Given the description of an element on the screen output the (x, y) to click on. 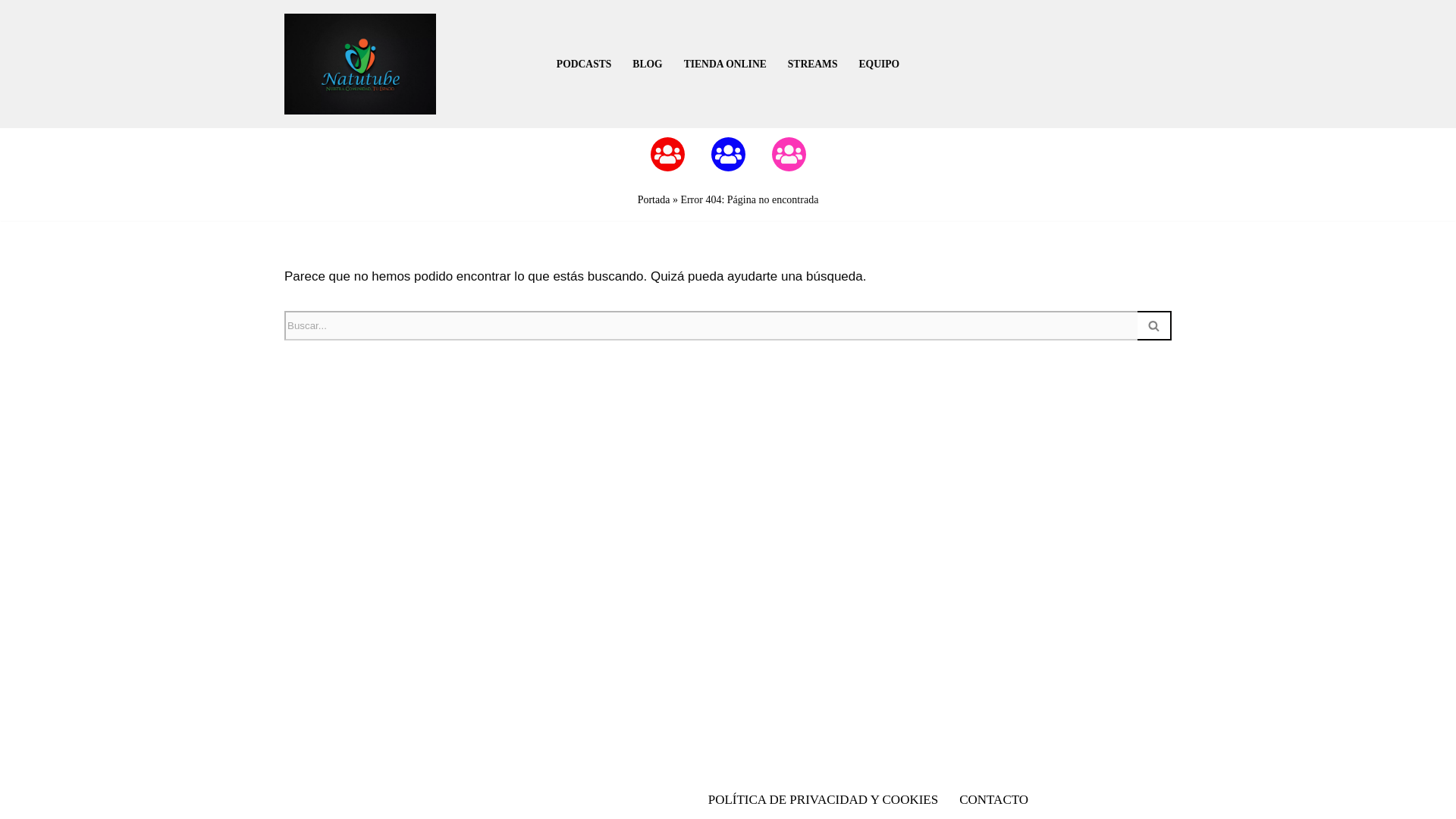
BLOG (646, 63)
TIENDA ONLINE (725, 63)
Natufaura (667, 154)
Laura Streitz (788, 154)
EQUIPO (879, 63)
Portada (653, 199)
PODCASTS (583, 63)
CONTACTO (993, 798)
Blackwolffr90 (728, 154)
STREAMS (812, 63)
Saltar al contenido (11, 31)
